Given the description of an element on the screen output the (x, y) to click on. 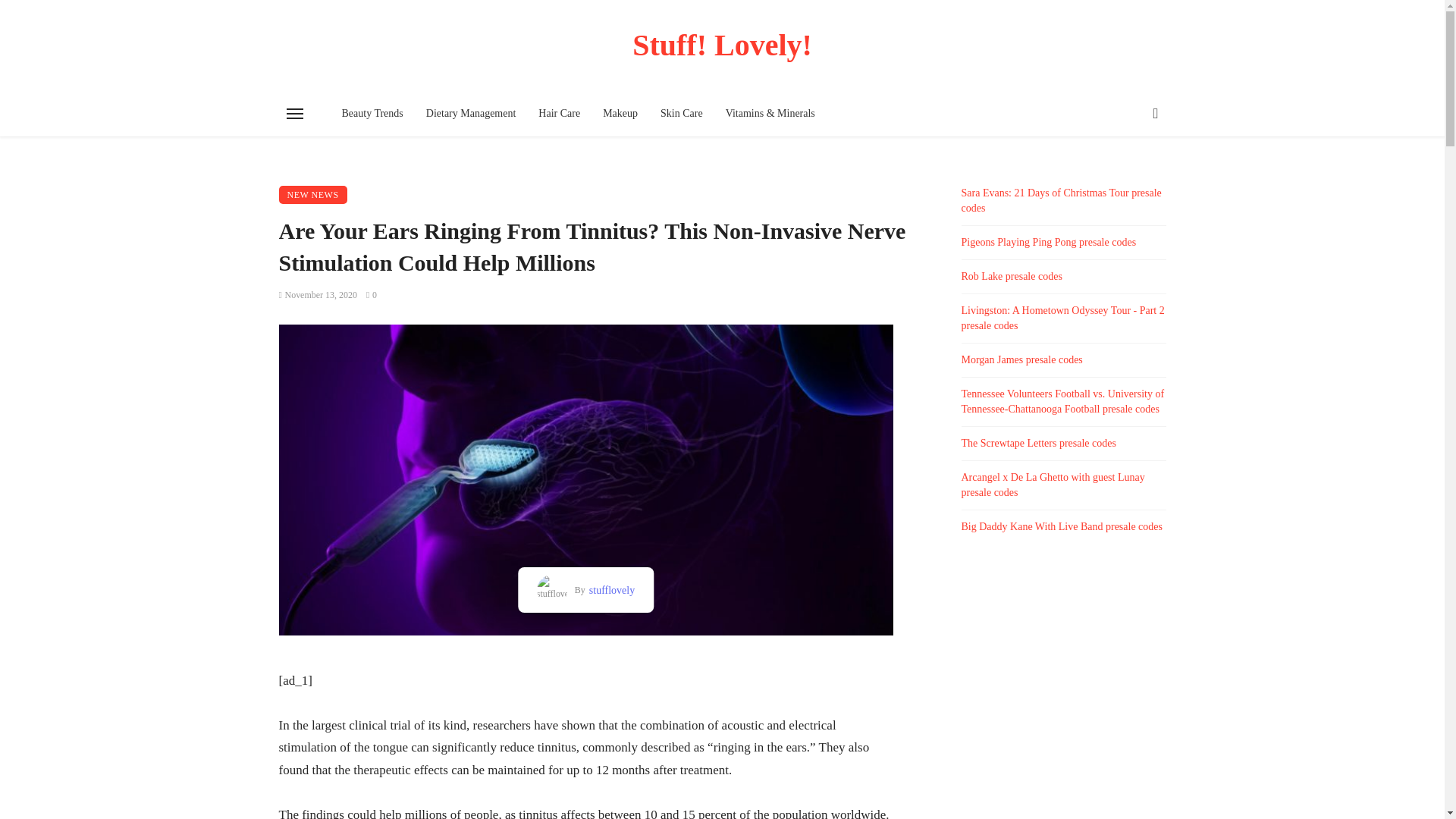
Skin Care (681, 113)
Beauty Trends (372, 113)
Hair Care (559, 113)
Stuff! Lovely! (722, 45)
0 Comments (371, 294)
Makeup (620, 113)
NEW NEWS (313, 194)
Dietary Management (470, 113)
November 13, 2020 at 5:22 pm (318, 294)
Posts by stufflovely (609, 590)
0 (371, 294)
stufflovely (609, 590)
